Given the description of an element on the screen output the (x, y) to click on. 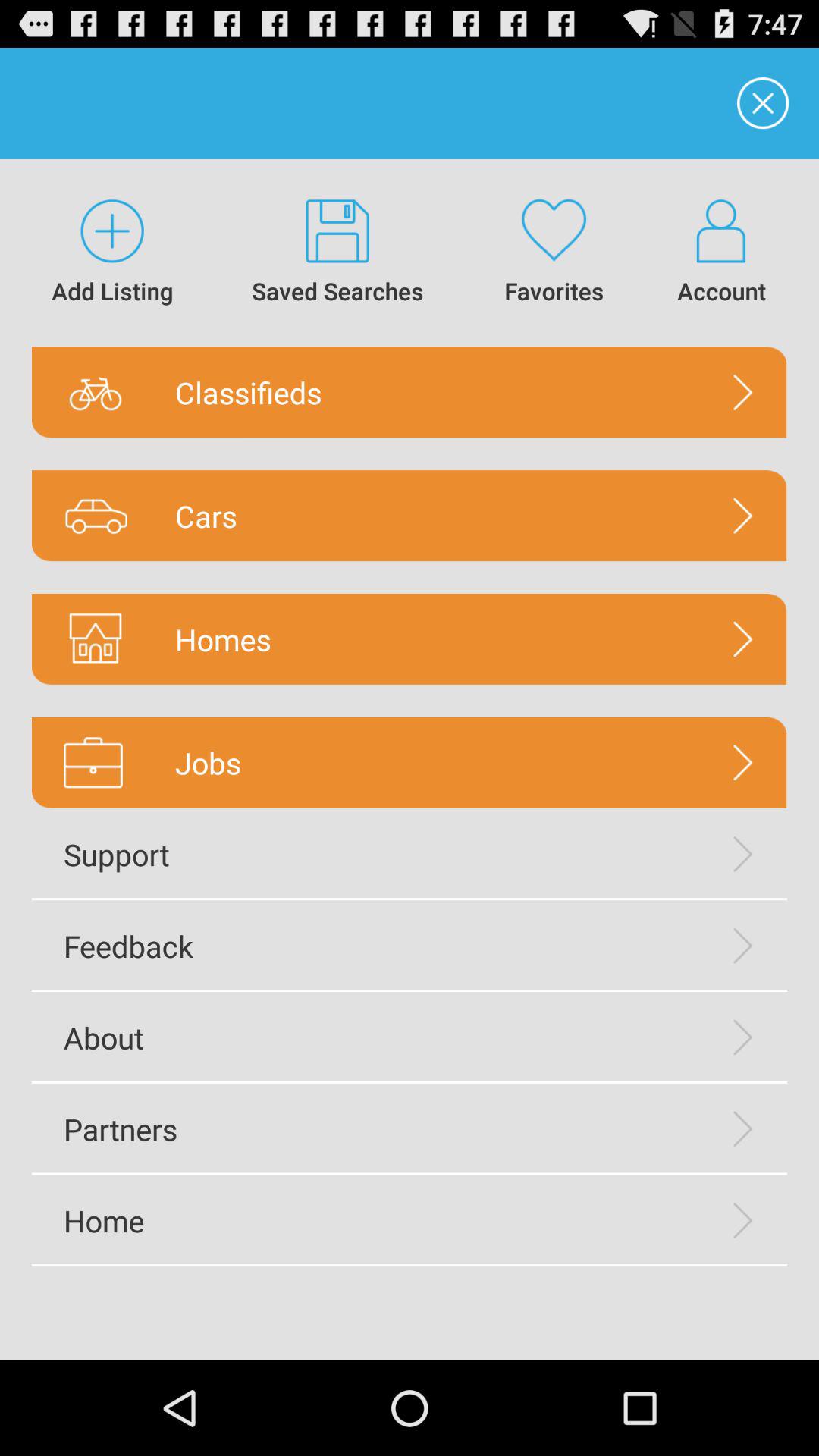
scroll to the add listing item (112, 253)
